Given the description of an element on the screen output the (x, y) to click on. 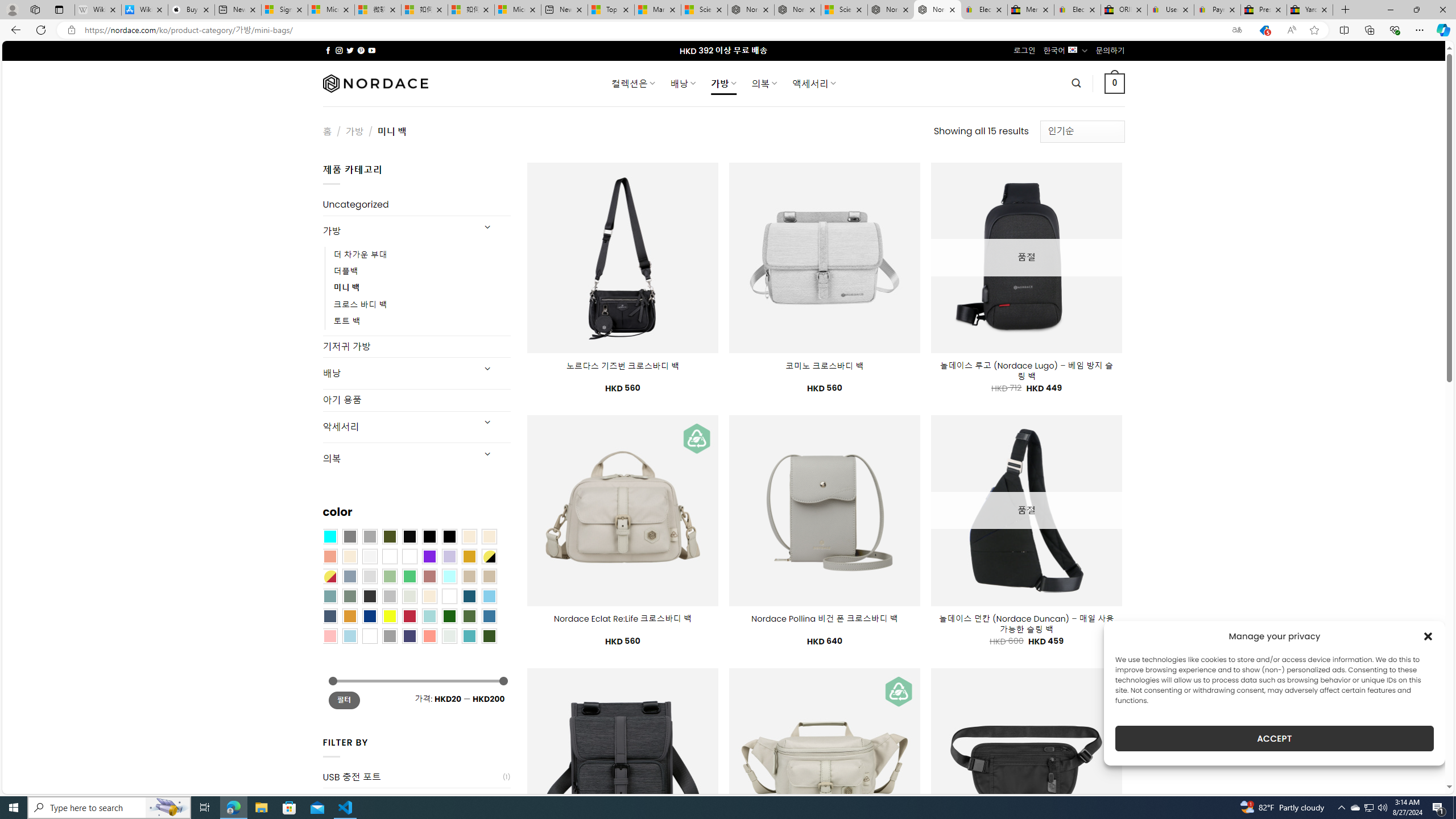
Nordace (374, 83)
Sign in to your Microsoft account (284, 9)
Class: cmplz-close (1428, 636)
